Given the description of an element on the screen output the (x, y) to click on. 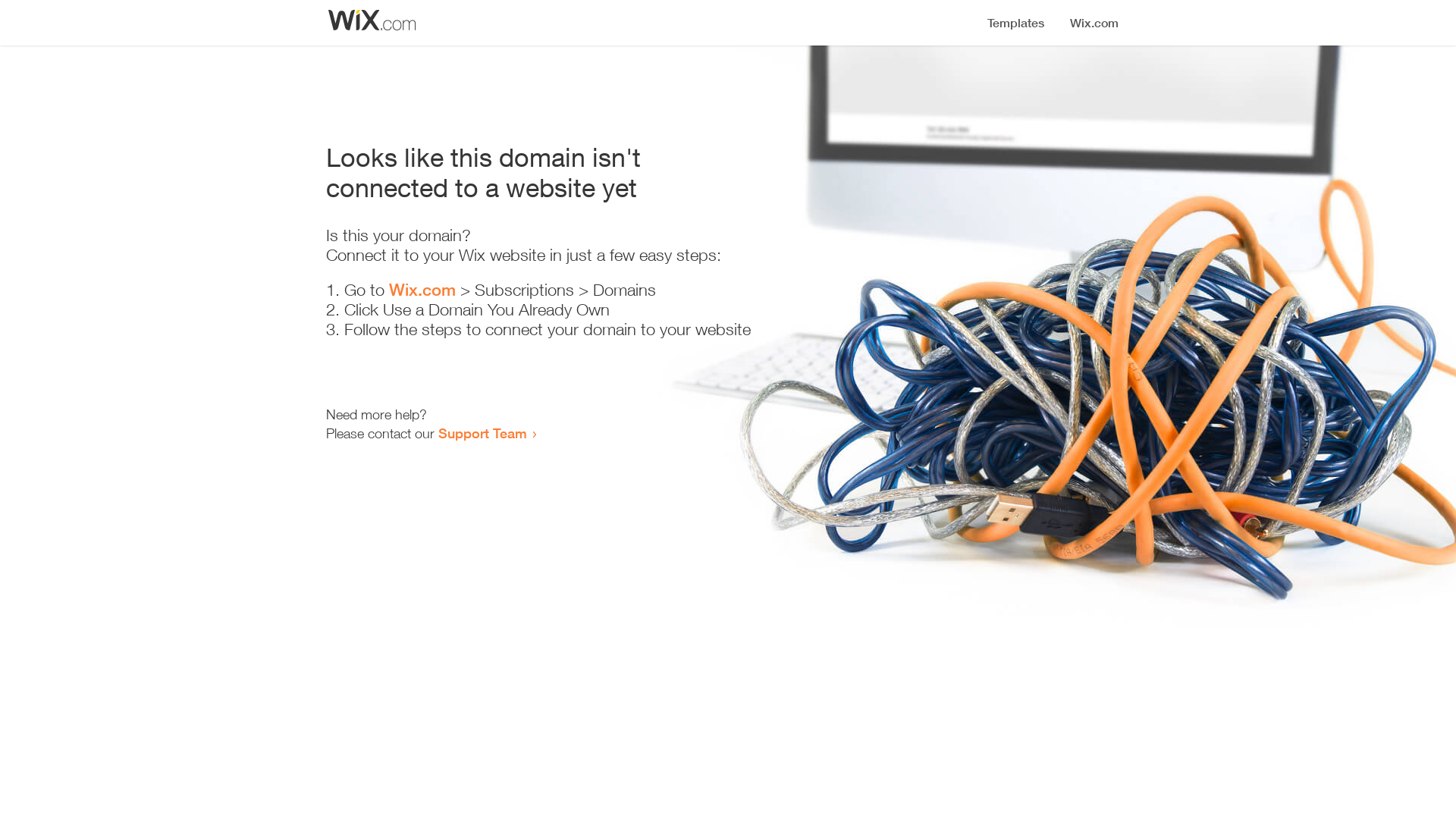
Support Team Element type: text (482, 432)
Wix.com Element type: text (422, 289)
